Given the description of an element on the screen output the (x, y) to click on. 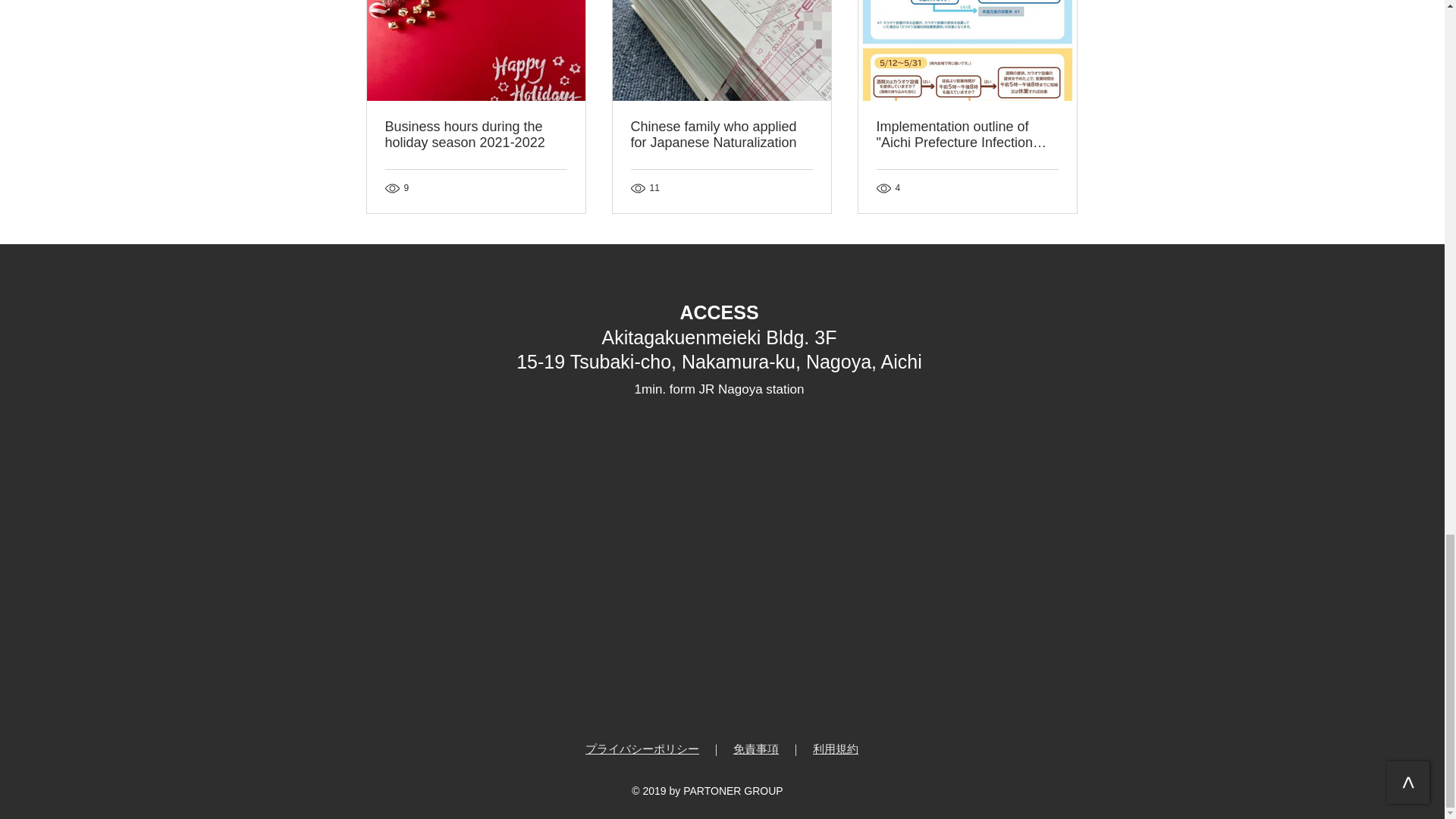
Chinese family who applied for Japanese Naturalization (721, 134)
Business hours during the holiday season 2021-2022 (476, 134)
